Given the description of an element on the screen output the (x, y) to click on. 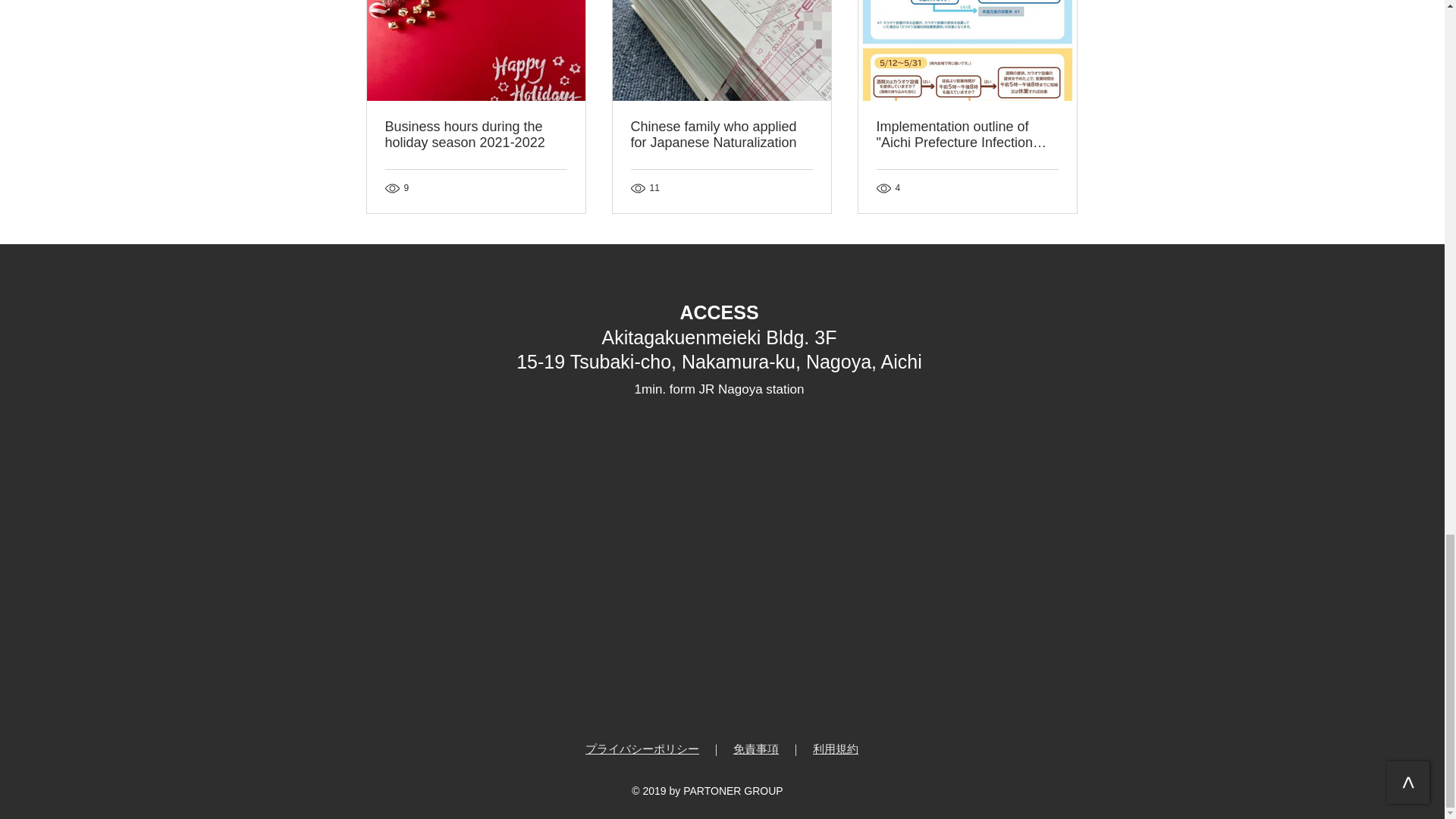
Chinese family who applied for Japanese Naturalization (721, 134)
Business hours during the holiday season 2021-2022 (476, 134)
